Given the description of an element on the screen output the (x, y) to click on. 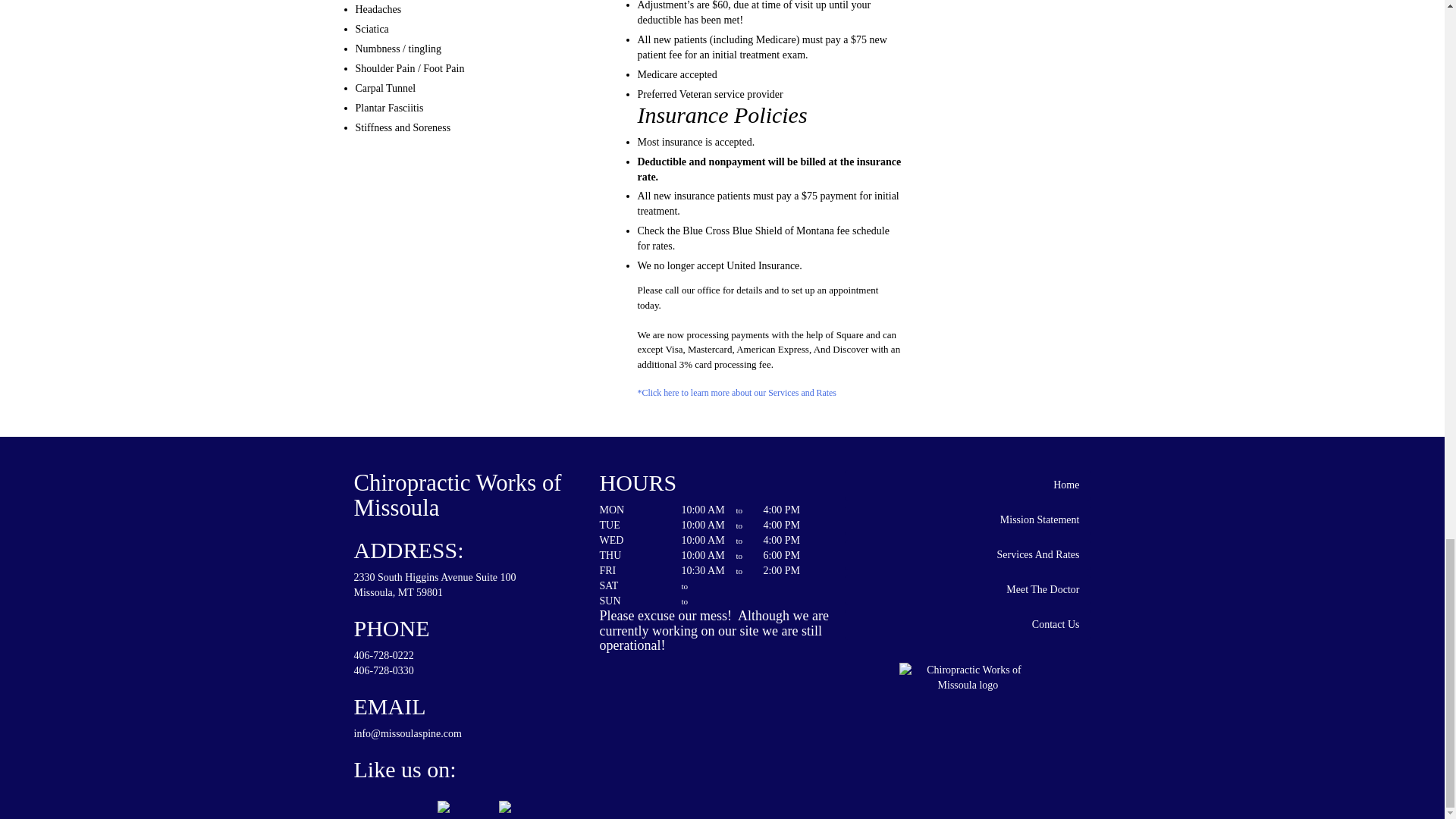
Contact Us (967, 624)
Meet The Doctor (967, 589)
Mission Statement (967, 520)
Home (967, 485)
Services And Rates (967, 554)
Home (967, 485)
